Given the description of an element on the screen output the (x, y) to click on. 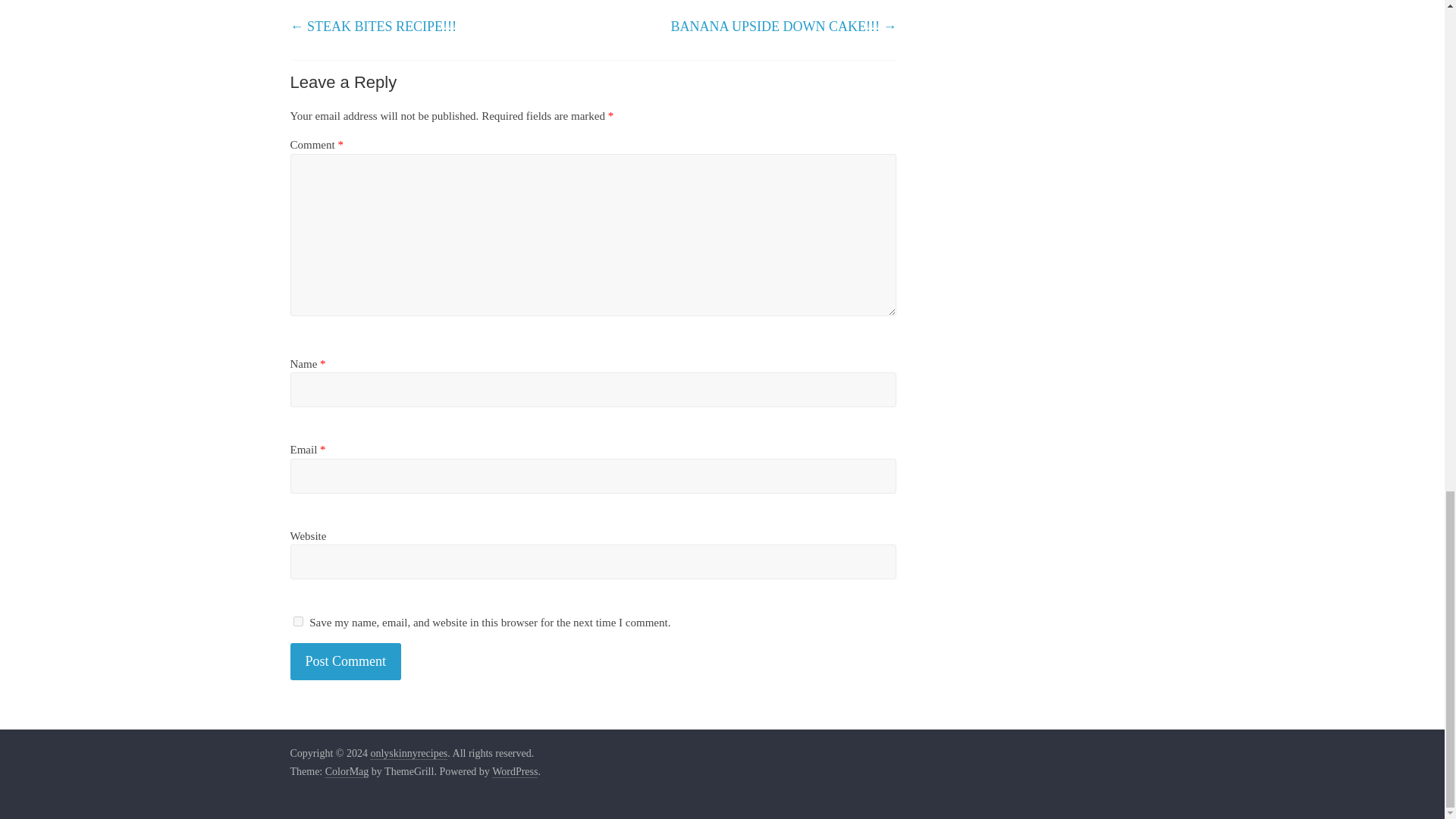
ColorMag (346, 771)
onlyskinnyrecipes (407, 753)
ColorMag (346, 771)
yes (297, 621)
onlyskinnyrecipes (407, 753)
Post Comment (345, 661)
WordPress (514, 771)
WordPress (514, 771)
Post Comment (345, 661)
